Given the description of an element on the screen output the (x, y) to click on. 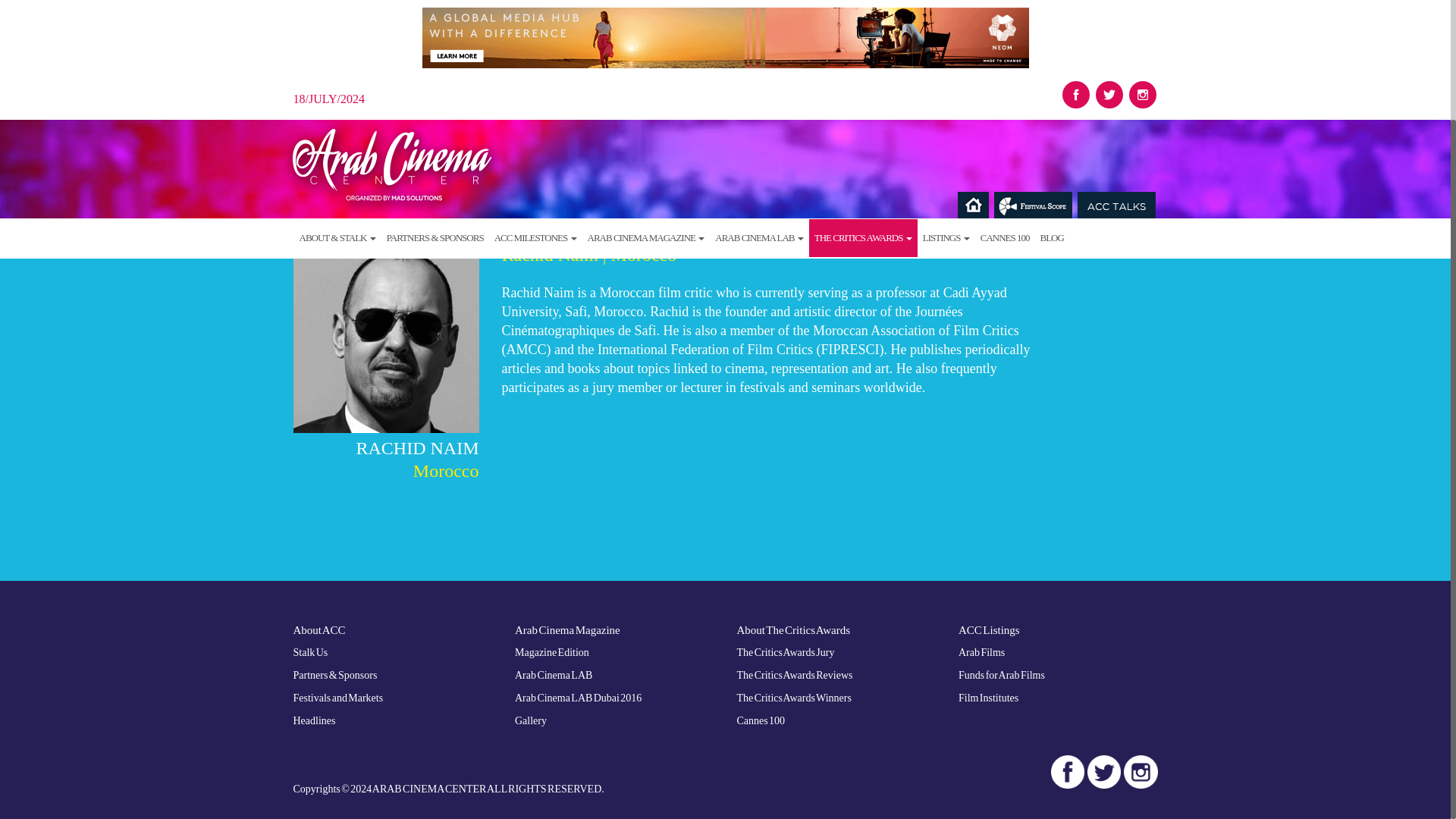
ARAB CINEMA LAB (759, 97)
ACC MILESTONES (535, 97)
THE CRITICS AWARDS (863, 97)
ARAB CINEMA MAGAZINE (646, 97)
